Given the description of an element on the screen output the (x, y) to click on. 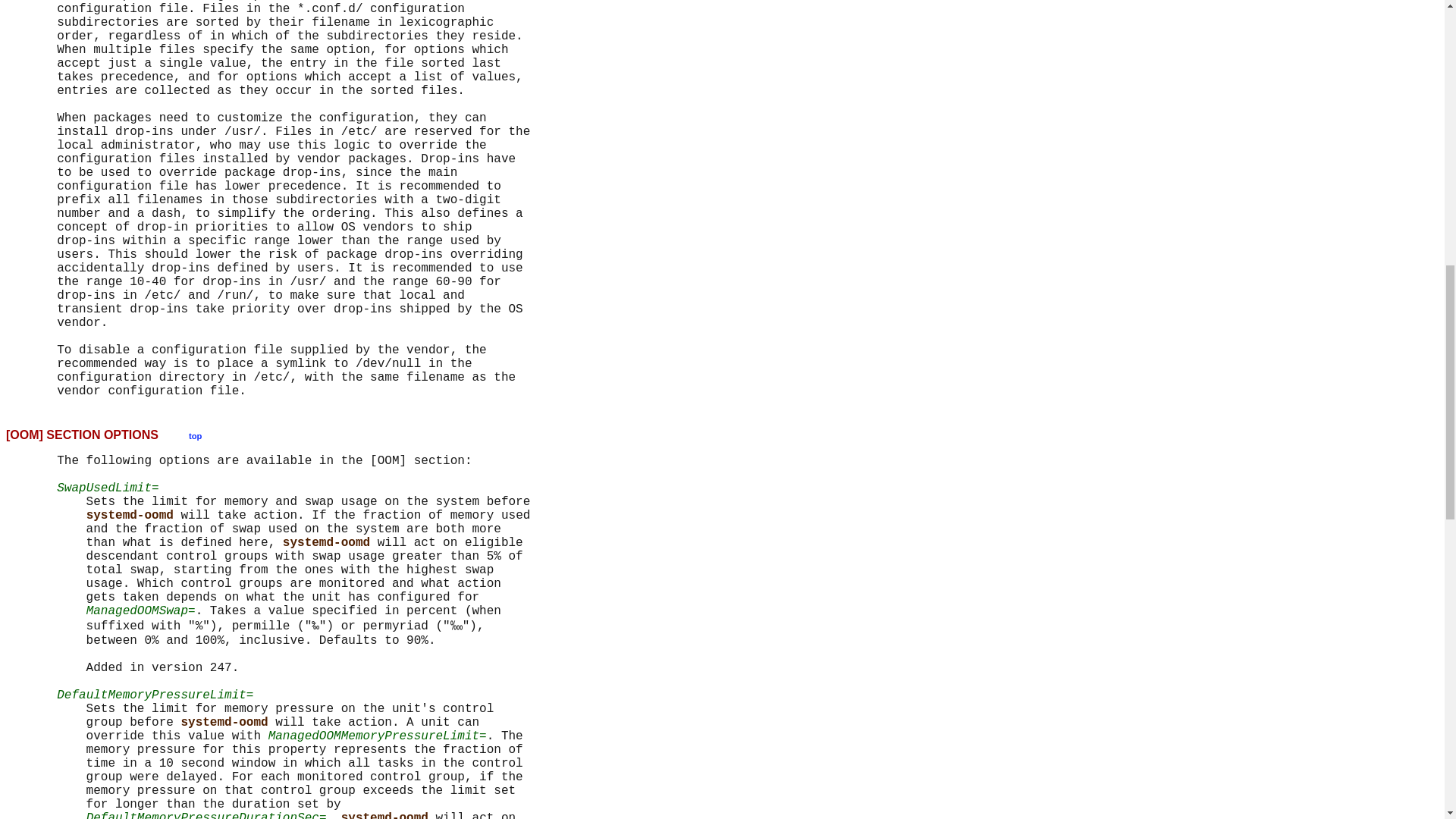
top (195, 434)
